Given the description of an element on the screen output the (x, y) to click on. 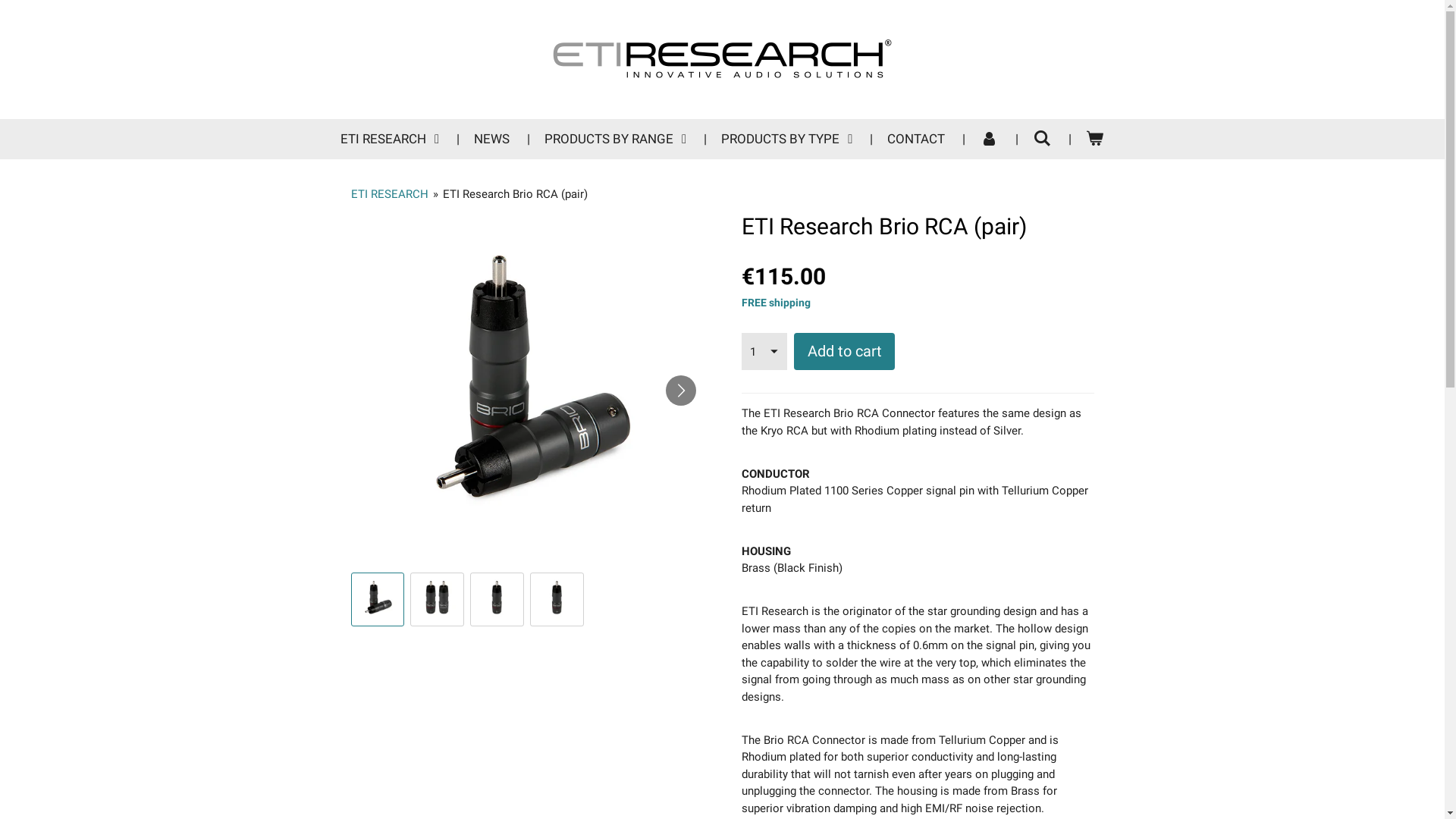
ETI Research Brio RCA (pair) Element type: text (514, 193)
ETI Research Webshop Element type: hover (722, 59)
Account Element type: hover (988, 139)
Add to cart Element type: text (843, 351)
CONTACT Element type: text (915, 139)
ETI RESEARCH Element type: text (389, 139)
View cart Element type: hover (1094, 139)
NEWS Element type: text (491, 139)
ETI RESEARCH Element type: text (388, 193)
PRODUCTS BY TYPE Element type: text (786, 139)
PRODUCTS BY RANGE Element type: text (614, 139)
Search Element type: hover (1041, 139)
